Given the description of an element on the screen output the (x, y) to click on. 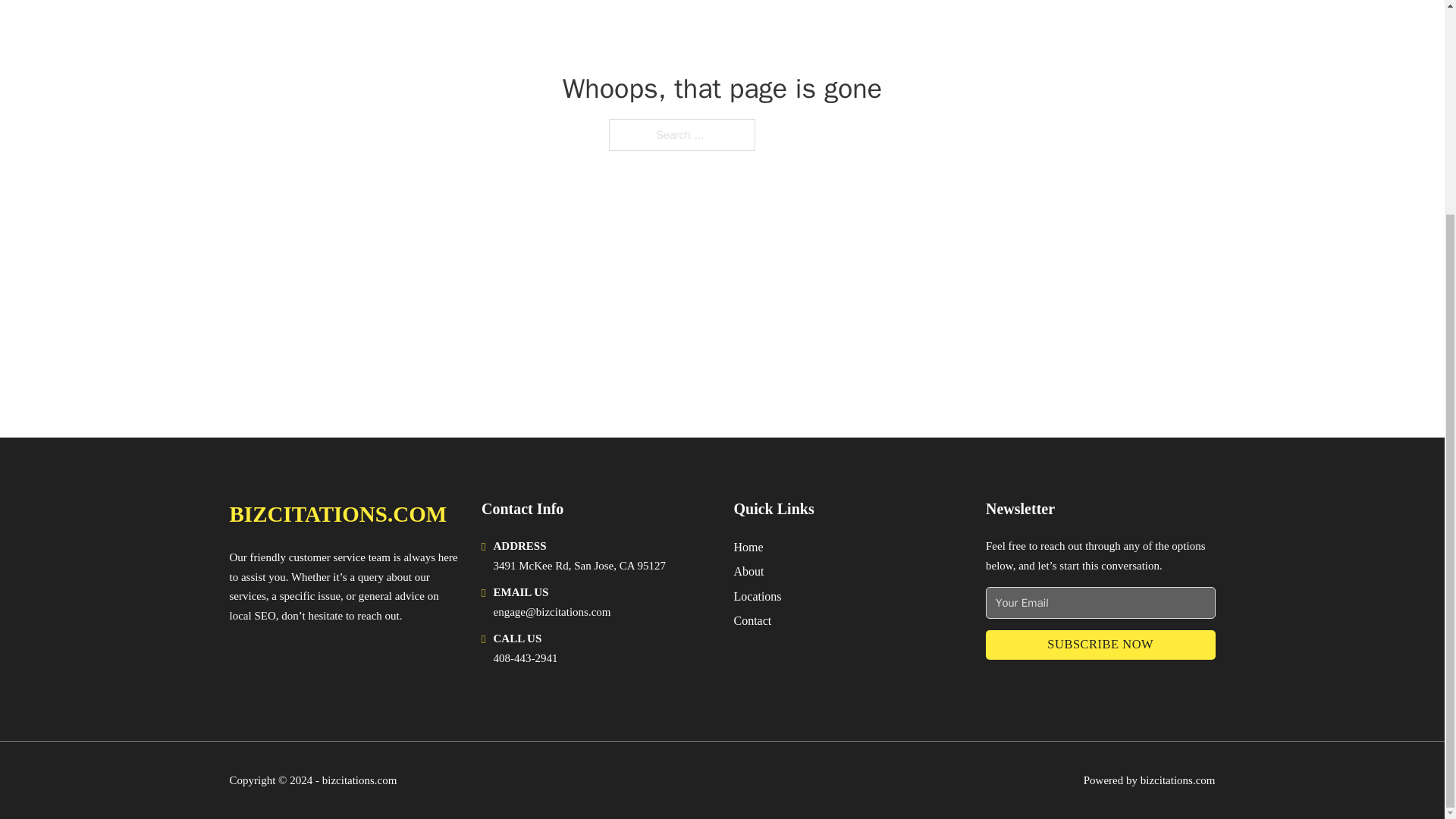
SUBSCRIBE NOW (1100, 644)
BIZCITATIONS.COM (337, 514)
Locations (757, 596)
About (748, 571)
408-443-2941 (525, 657)
Contact (752, 620)
Home (747, 547)
